Given the description of an element on the screen output the (x, y) to click on. 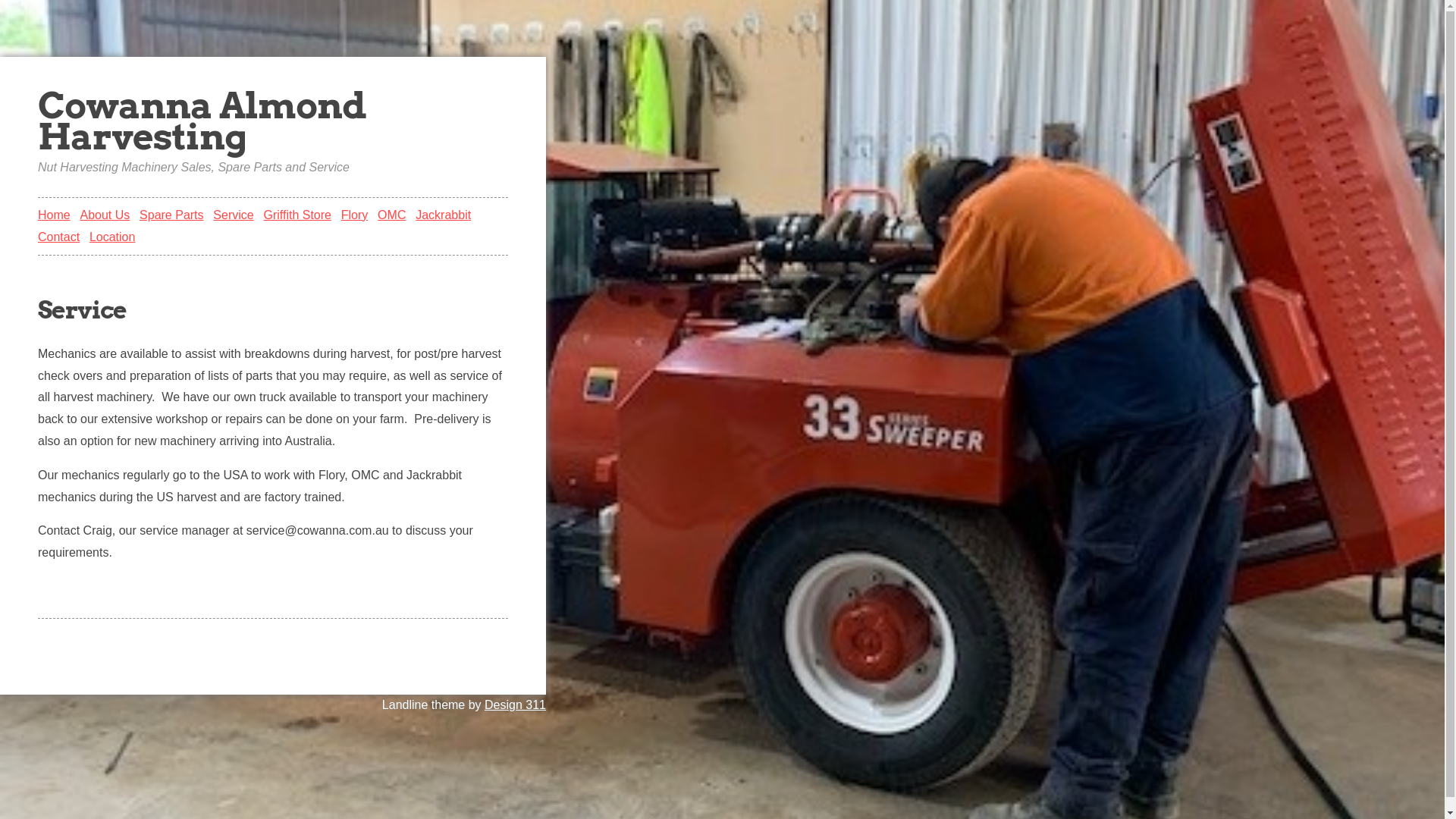
Design 311 Element type: text (515, 704)
Home Element type: text (53, 214)
Location Element type: text (112, 236)
Cowanna Almond Harvesting Element type: text (201, 120)
Jackrabbit Element type: text (442, 214)
Griffith Store Element type: text (297, 214)
Contact Element type: text (58, 236)
OMC Element type: text (391, 214)
Service Element type: text (233, 214)
Flory Element type: text (354, 214)
Service Element type: text (272, 310)
Spare Parts Element type: text (171, 214)
About Us Element type: text (104, 214)
